Given the description of an element on the screen output the (x, y) to click on. 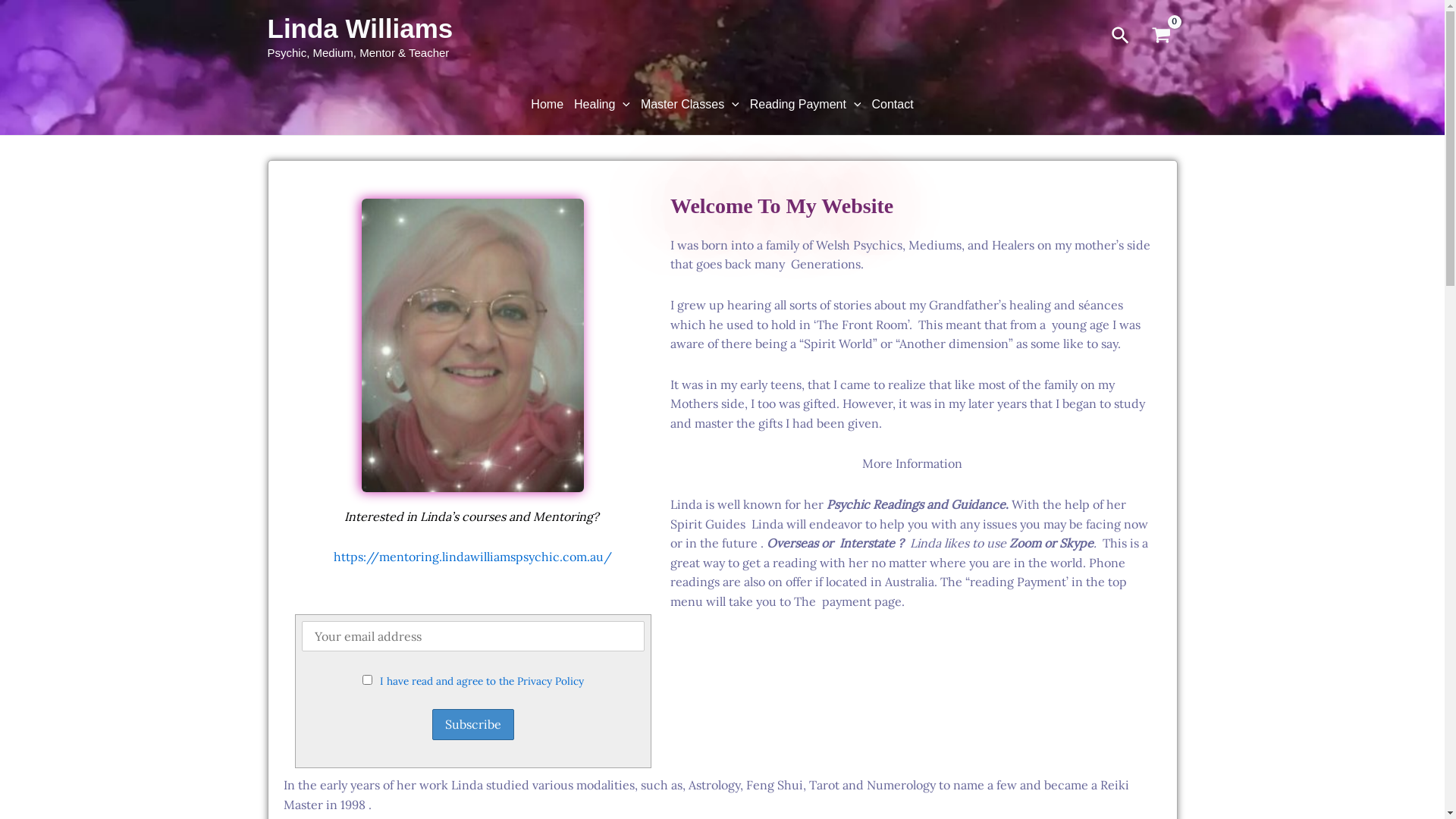
Home Element type: text (546, 104)
Subscribe Element type: text (473, 724)
Contact Element type: text (892, 104)
I have read and agree to the Privacy Policy Element type: text (481, 680)
com Element type: text (574, 556)
https://mentoring.lindawilliamspsychic. Element type: text (447, 556)
.au/ Element type: text (598, 556)
Healing Element type: text (601, 104)
Search Element type: text (1120, 36)
Reading Payment Element type: text (805, 104)
Master Classes Element type: text (689, 104)
Linda Williams Element type: text (359, 28)
